Given the description of an element on the screen output the (x, y) to click on. 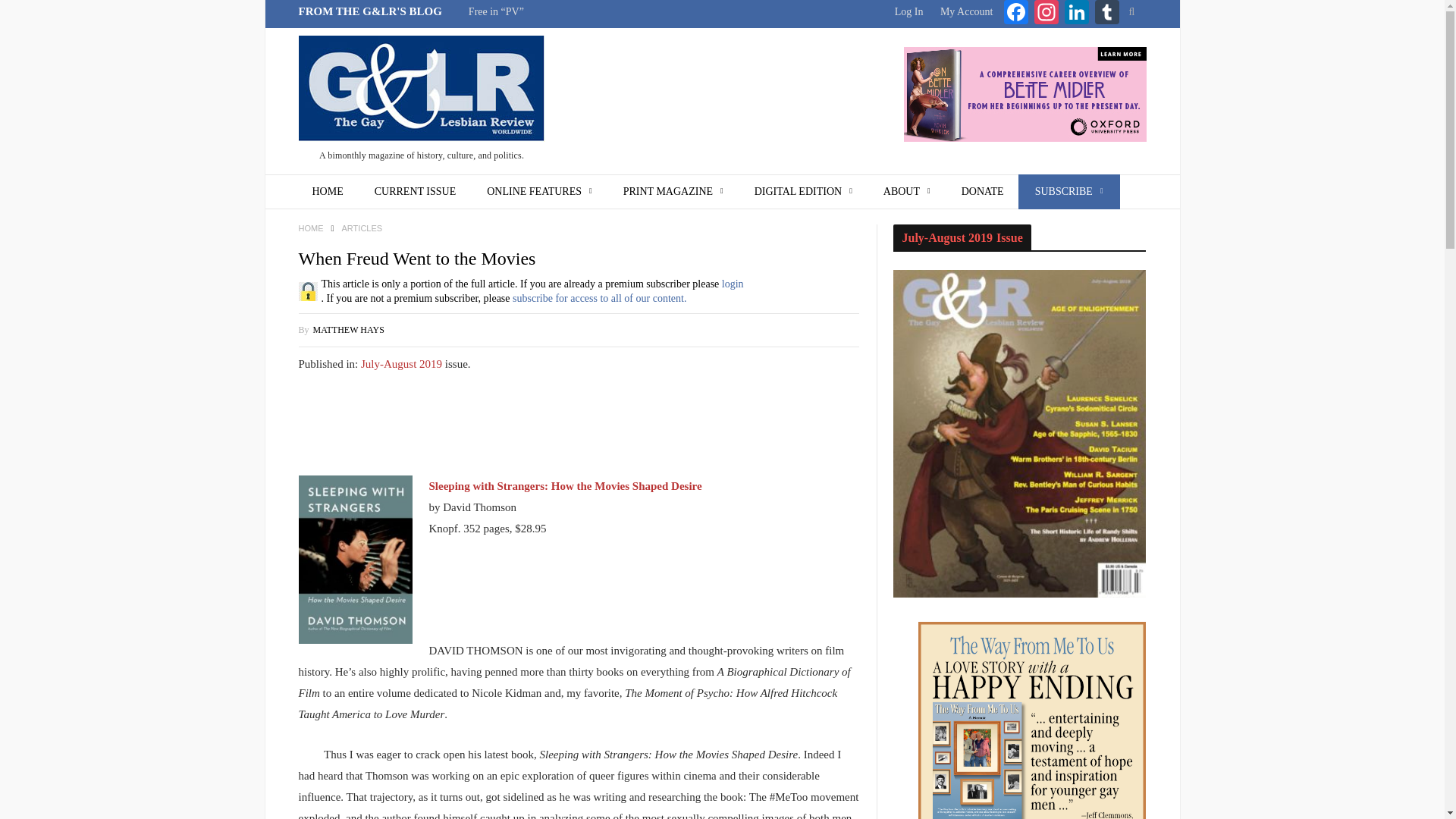
CURRENT ISSUE (414, 191)
A bimonthly magazine of history, culture, and politics. (421, 101)
Tumblr (1107, 13)
Tumblr (1107, 13)
Search (1131, 12)
PRINT MAGAZINE (673, 191)
LinkedIn (1076, 13)
Instagram (1045, 13)
ONLINE FEATURES (539, 191)
Facebook (1015, 13)
HOME (327, 191)
Facebook (1015, 13)
Instagram (1045, 13)
LinkedIn (1076, 13)
ABOUT (906, 191)
